Given the description of an element on the screen output the (x, y) to click on. 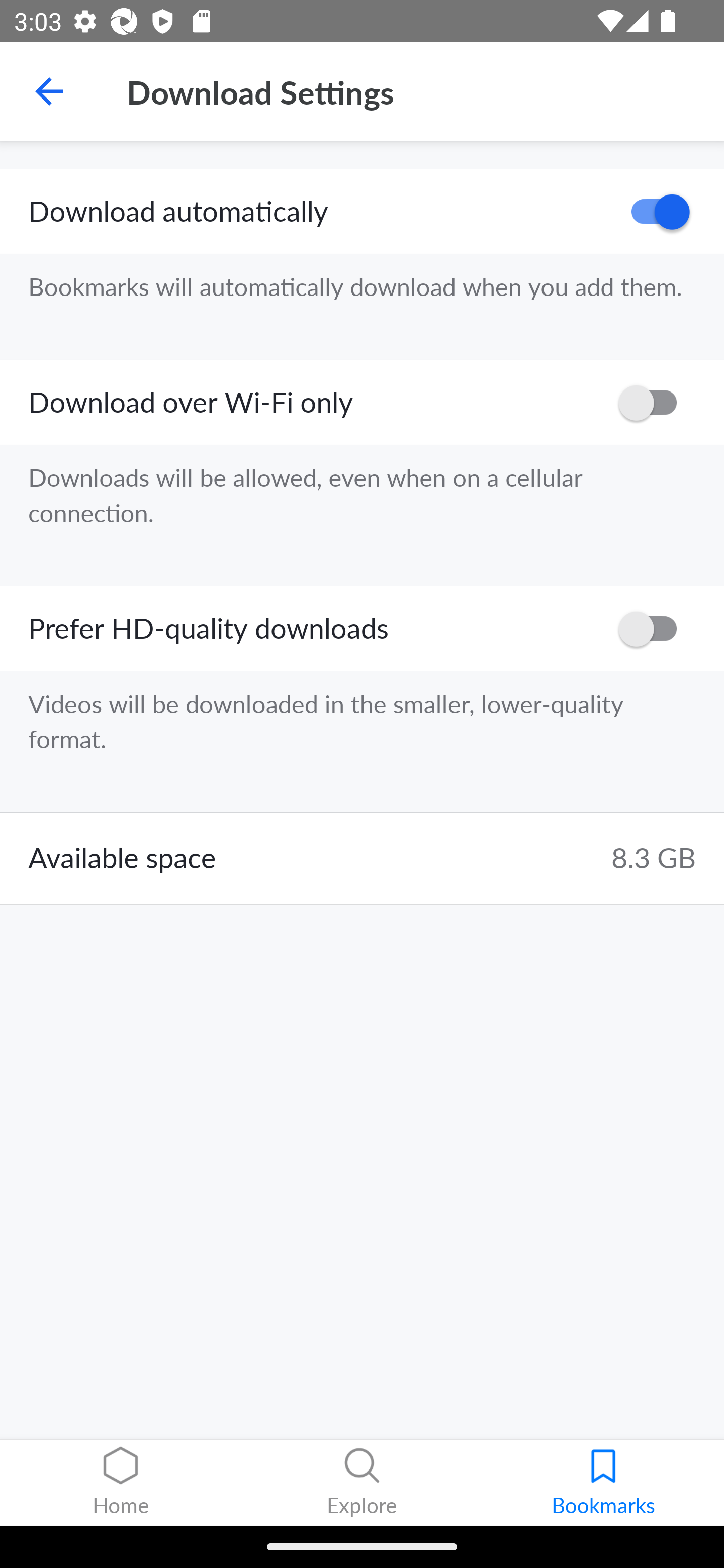
Navigate up (49, 91)
ON (653, 211)
OFF (653, 402)
OFF (653, 628)
Home (120, 1482)
Explore (361, 1482)
Bookmarks (603, 1482)
